Given the description of an element on the screen output the (x, y) to click on. 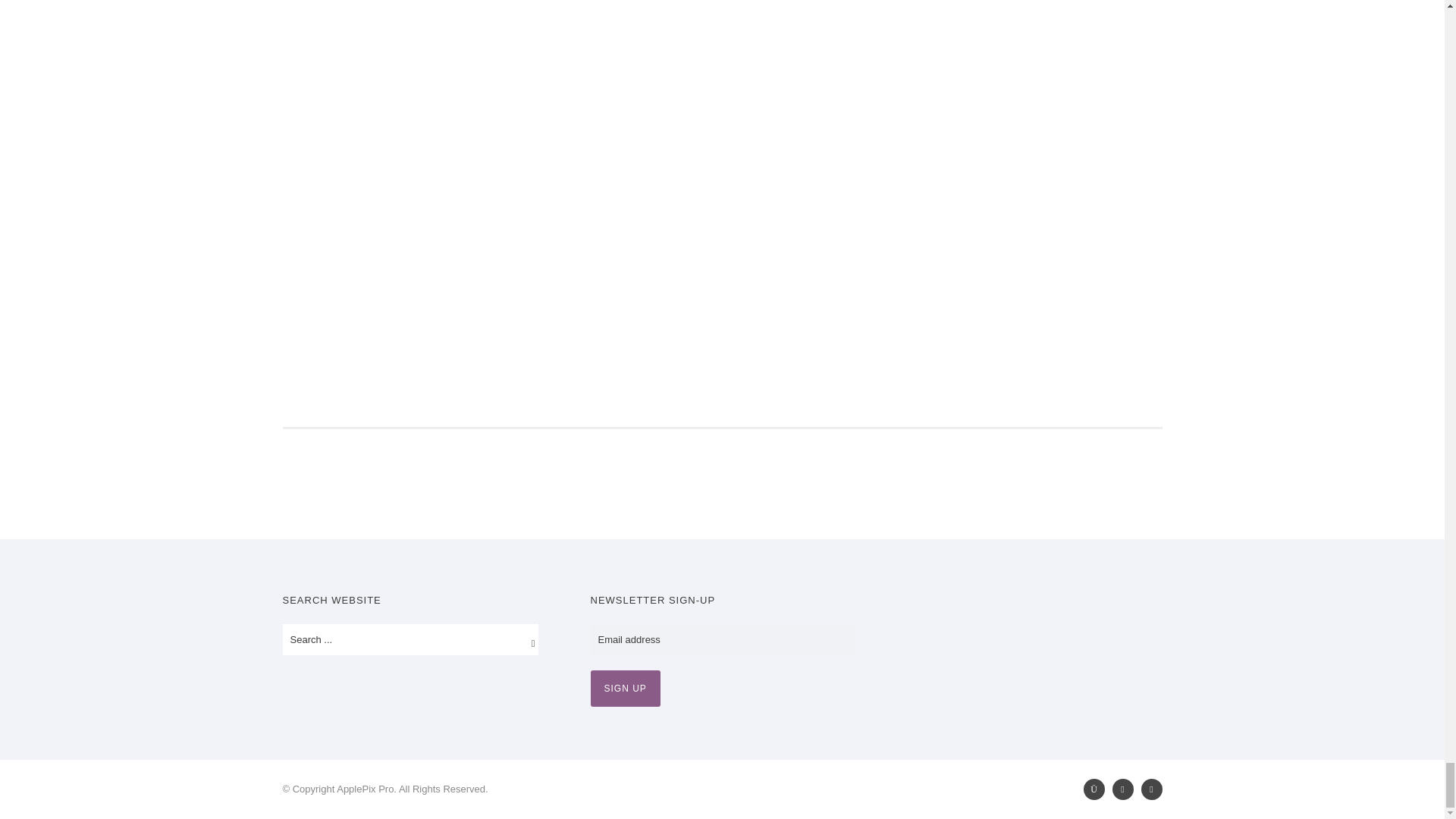
Sign up (624, 688)
